Given the description of an element on the screen output the (x, y) to click on. 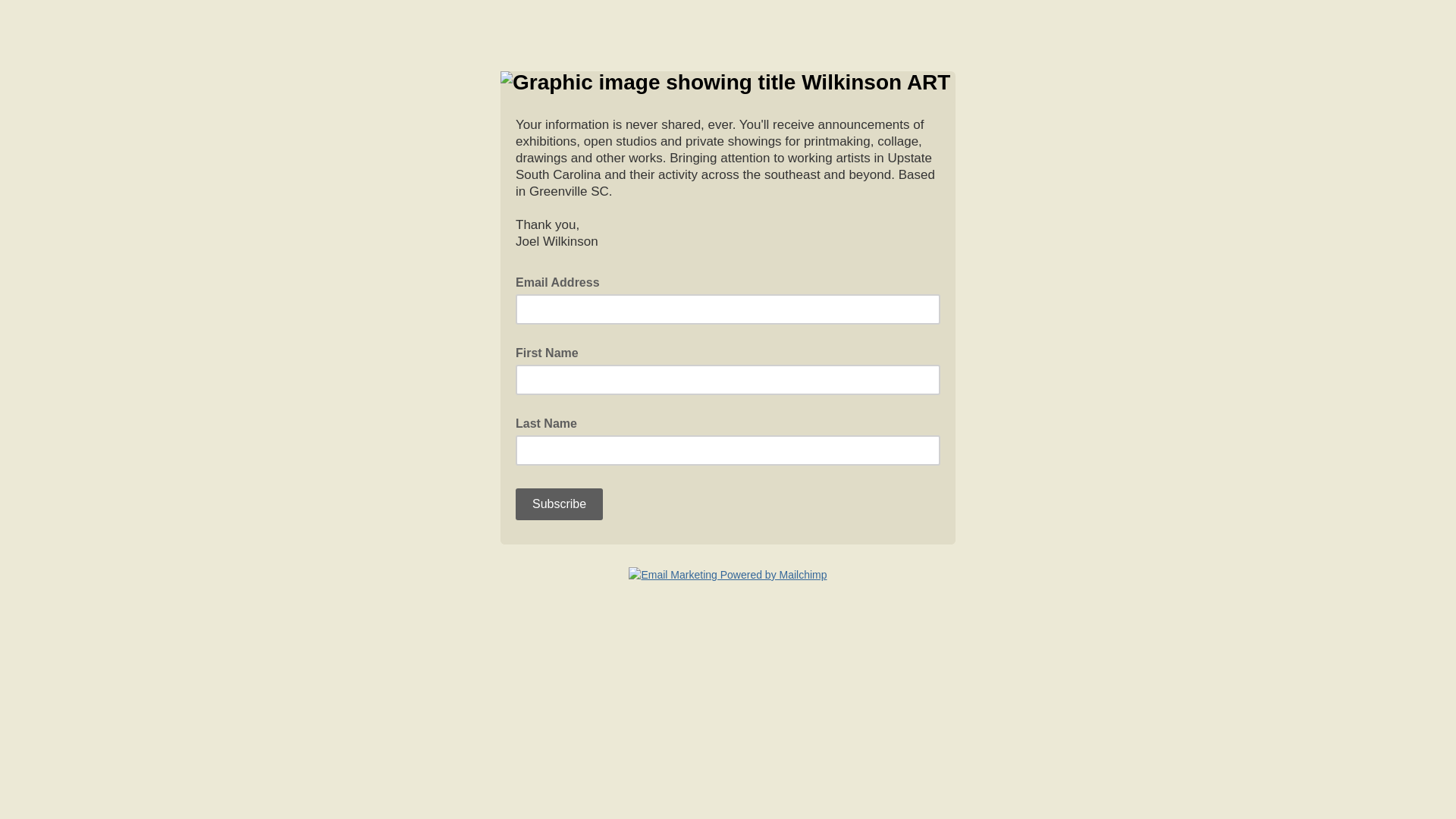
Subscribe (558, 504)
Mailchimp Email Marketing (727, 574)
Subscribe (558, 504)
